Given the description of an element on the screen output the (x, y) to click on. 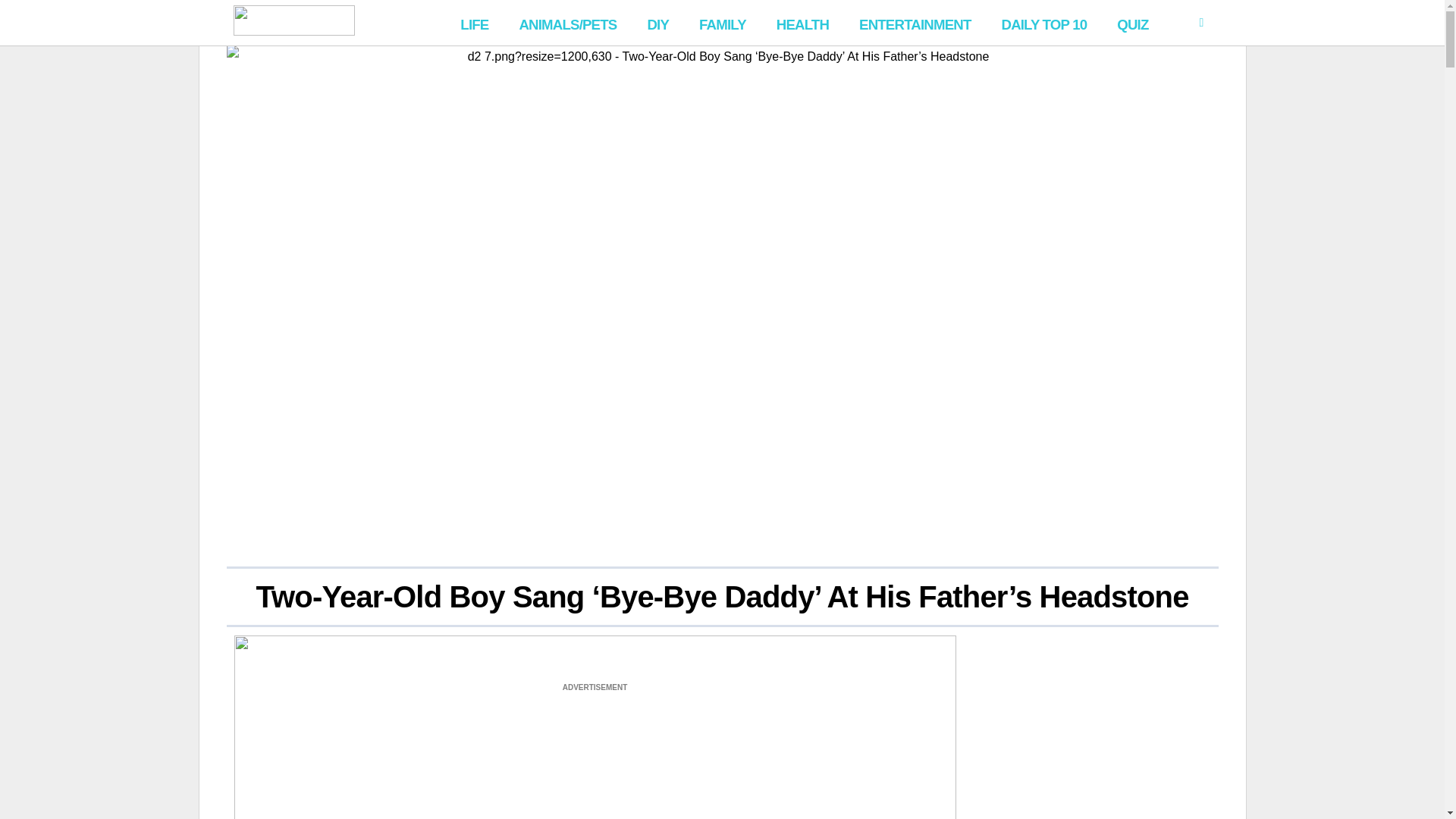
LIFE (474, 22)
QUIZ (1132, 22)
DAILY TOP 10 (1043, 22)
FAMILY (722, 22)
ENTERTAINMENT (914, 22)
HEALTH (801, 22)
